Given the description of an element on the screen output the (x, y) to click on. 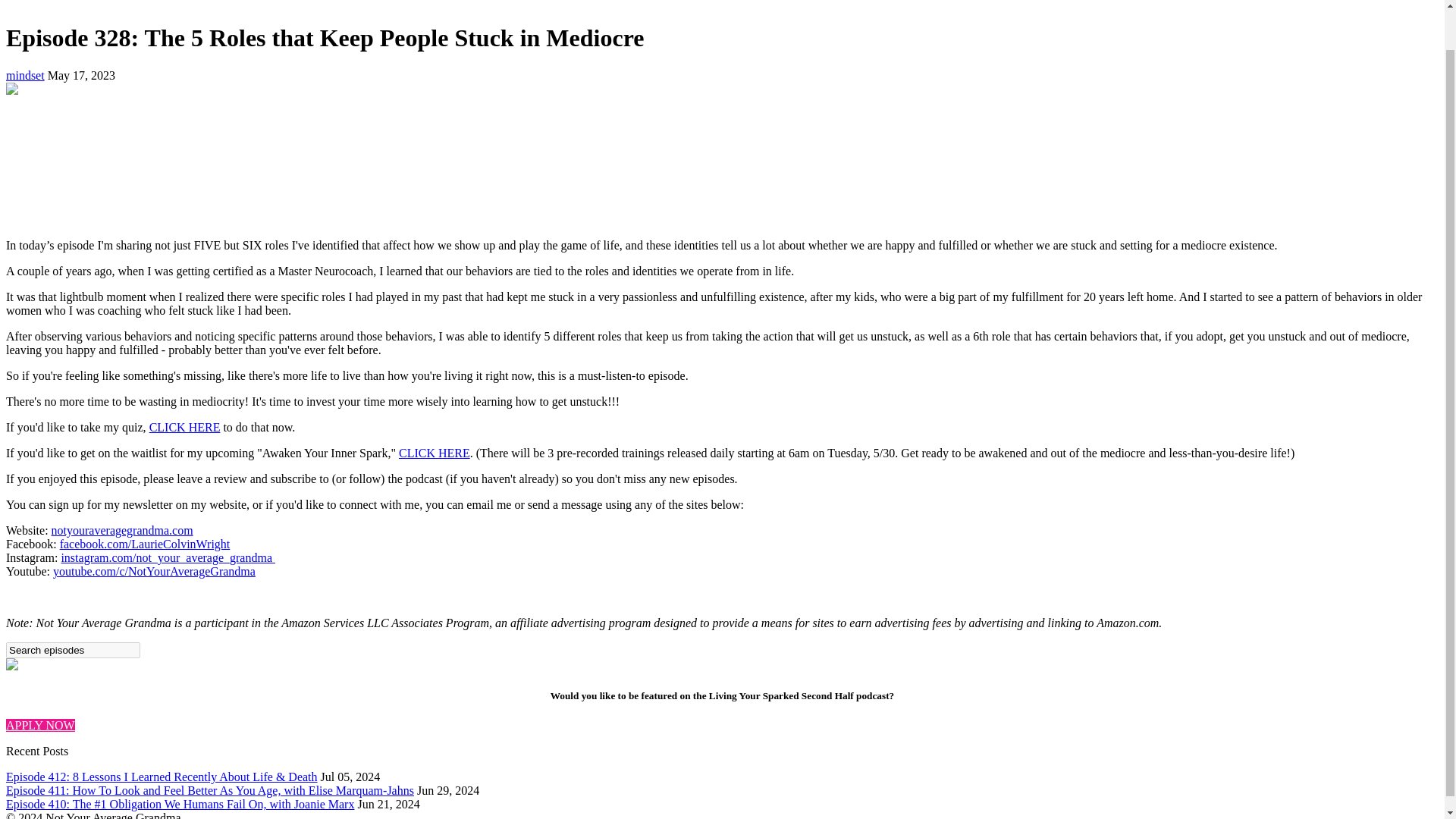
notyouraveragegrandma.com (121, 530)
mindset (25, 74)
CLICK HERE (185, 427)
APPLY NOW (40, 725)
CLICK HERE (434, 452)
